Given the description of an element on the screen output the (x, y) to click on. 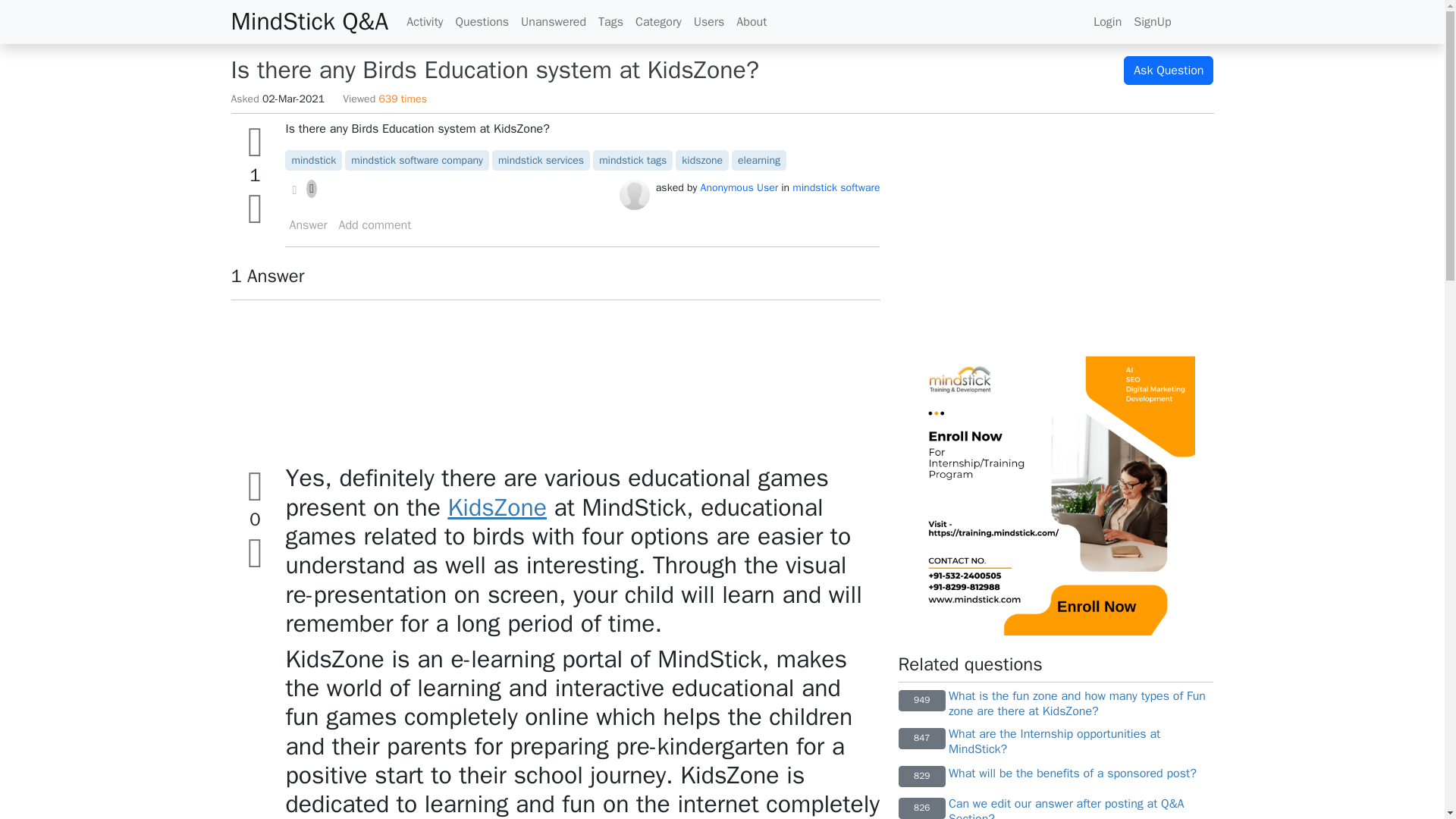
Ask Question (1168, 70)
Add a comment on this question (374, 225)
About (751, 21)
mindstick software (835, 187)
Tags (610, 21)
Activity (424, 21)
Anonymous User (634, 193)
mindstick software company (416, 160)
Questions (481, 21)
kidszone (701, 160)
